Given the description of an element on the screen output the (x, y) to click on. 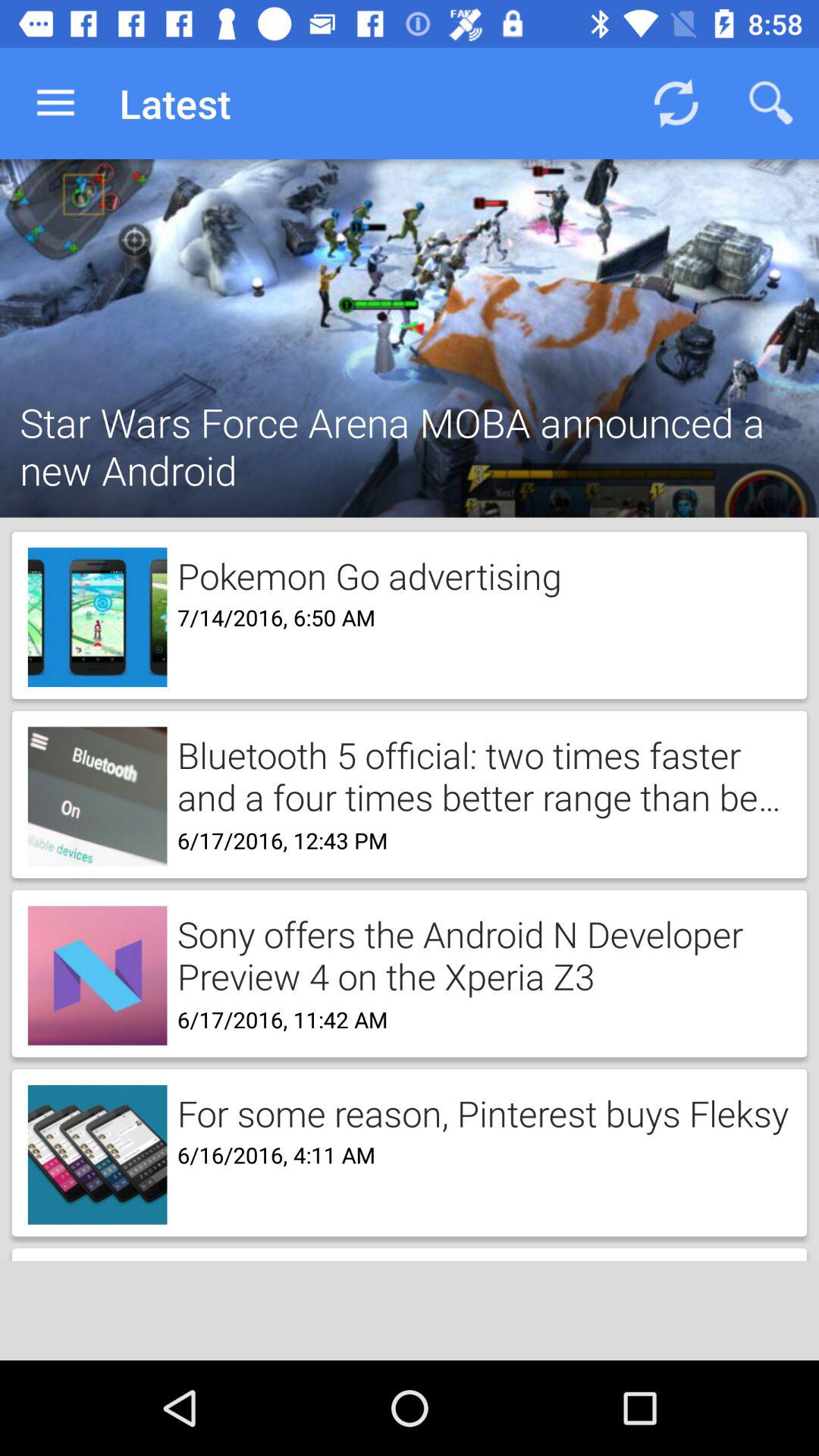
choose the icon next to the latest icon (675, 103)
